Given the description of an element on the screen output the (x, y) to click on. 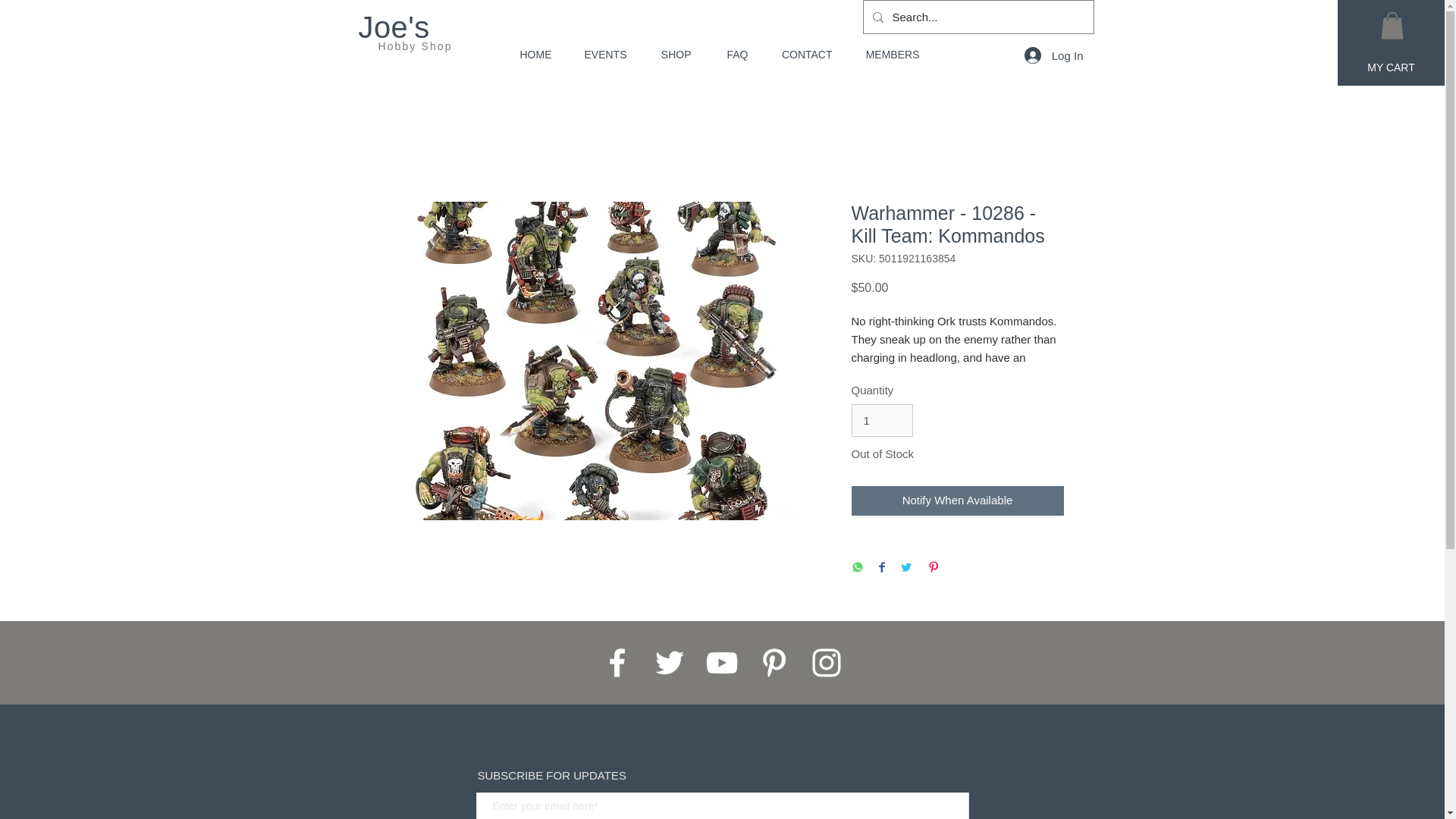
Hobby Shop (414, 46)
Notify When Available (956, 500)
1 (881, 420)
CONTACT (802, 54)
Log In (1053, 54)
EVENTS (599, 54)
HOME (528, 54)
MEMBERS (886, 54)
Joe's (393, 27)
SHOP (671, 54)
